Given the description of an element on the screen output the (x, y) to click on. 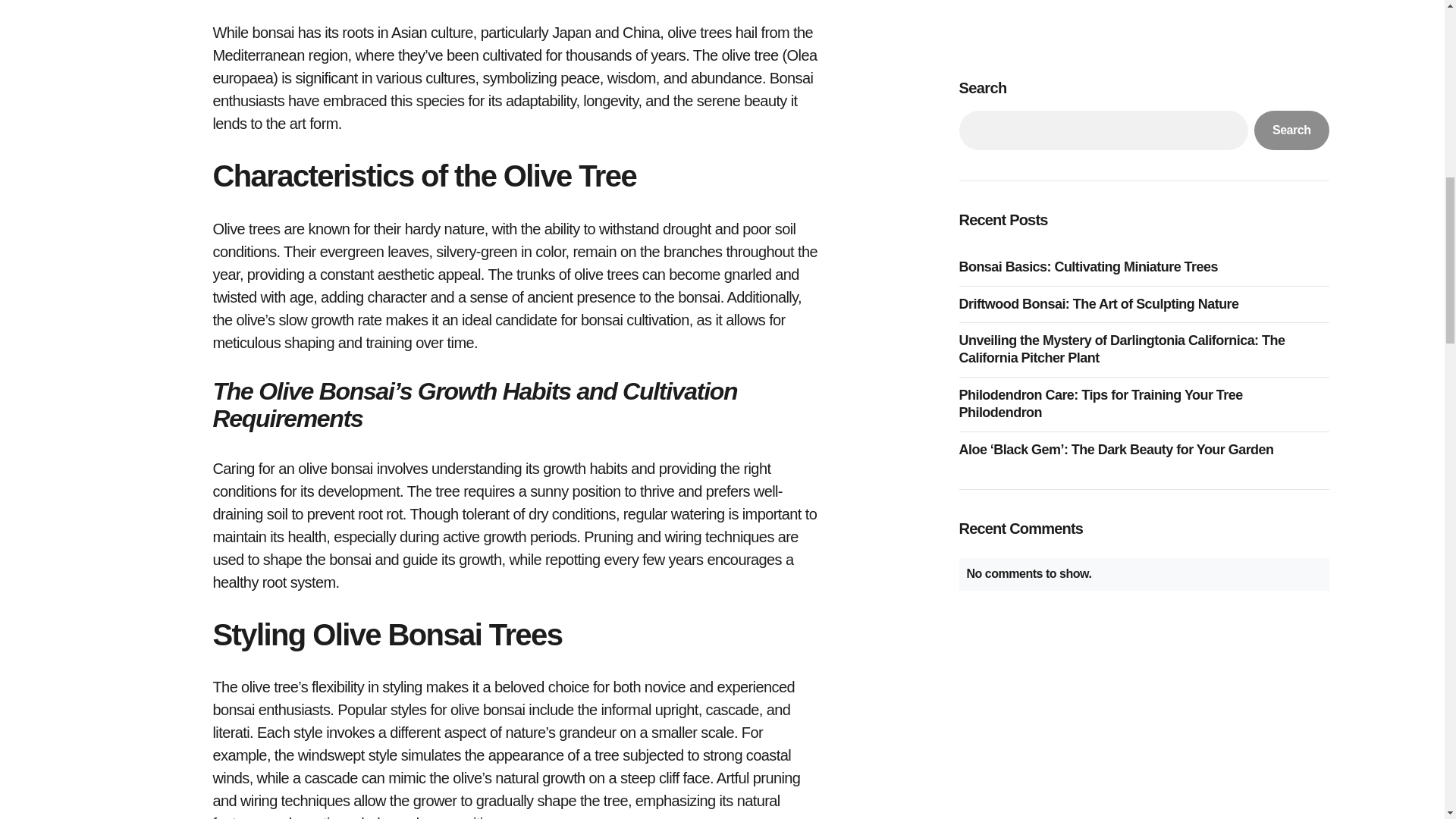
Philodendron Care: Tips for Training Your Tree Philodendron (1142, 94)
Driftwood Bonsai: The Art of Sculpting Nature (1102, 1)
